Given the description of an element on the screen output the (x, y) to click on. 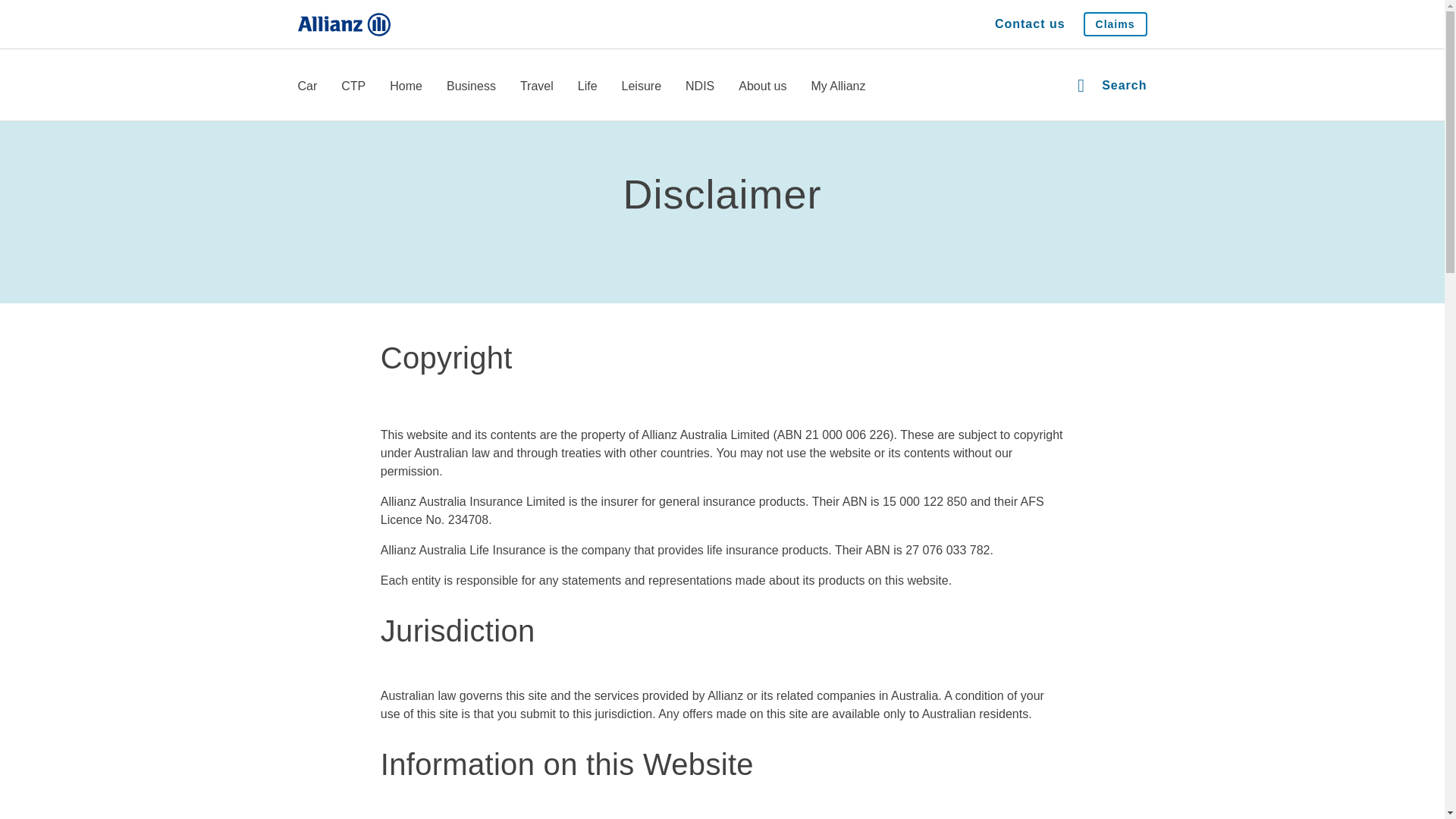
Contact us (1029, 24)
CTP (352, 87)
Claims (1115, 24)
Car (307, 87)
Home (406, 87)
